Given the description of an element on the screen output the (x, y) to click on. 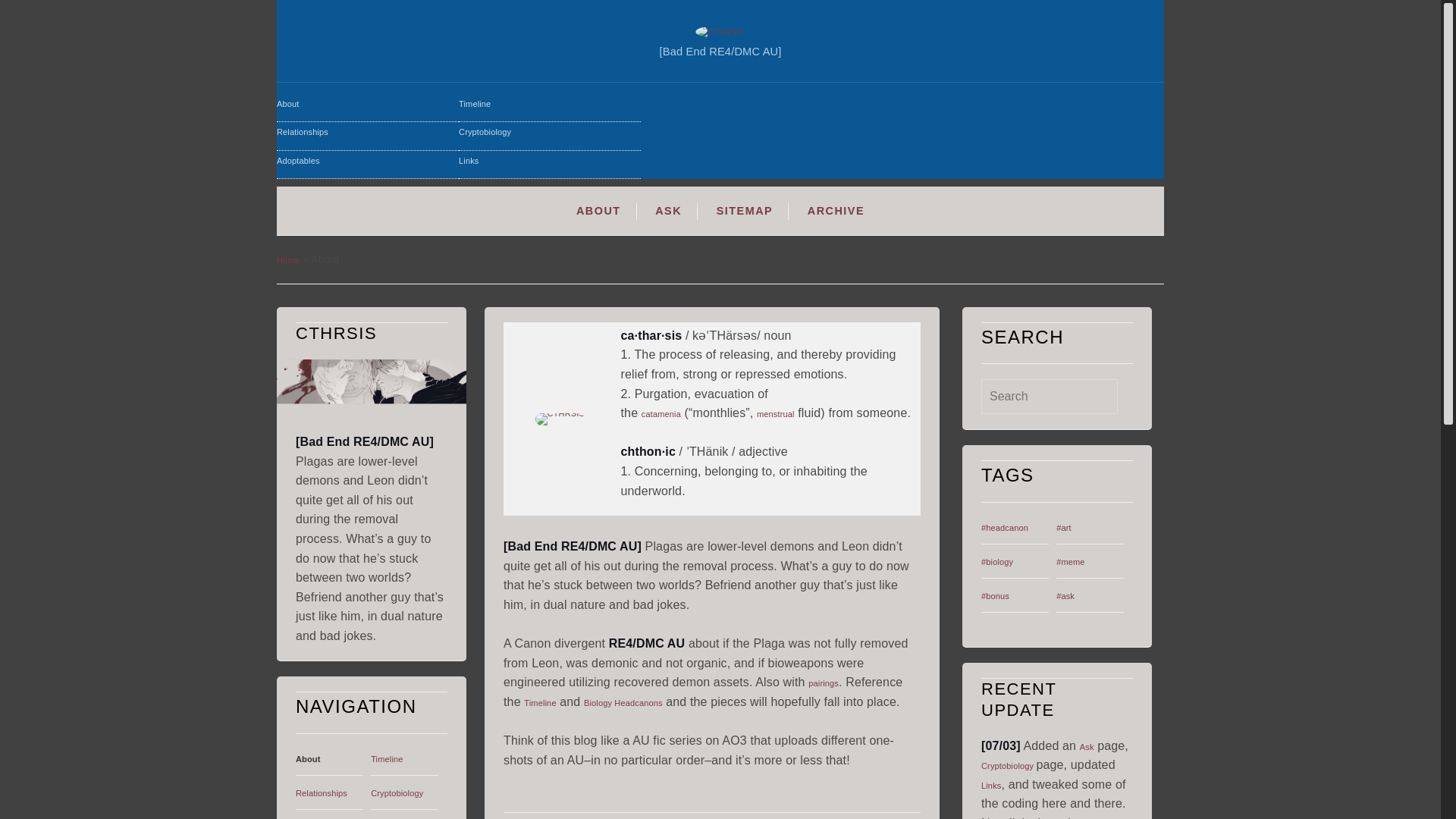
Relationships (321, 792)
ASK (668, 211)
Adoptables (367, 164)
Cryptobiology (397, 792)
Cryptobiology (549, 135)
ARCHIVE (835, 211)
Relationships (367, 135)
headcanon (1006, 527)
About (307, 758)
catamenia (661, 413)
